Given the description of an element on the screen output the (x, y) to click on. 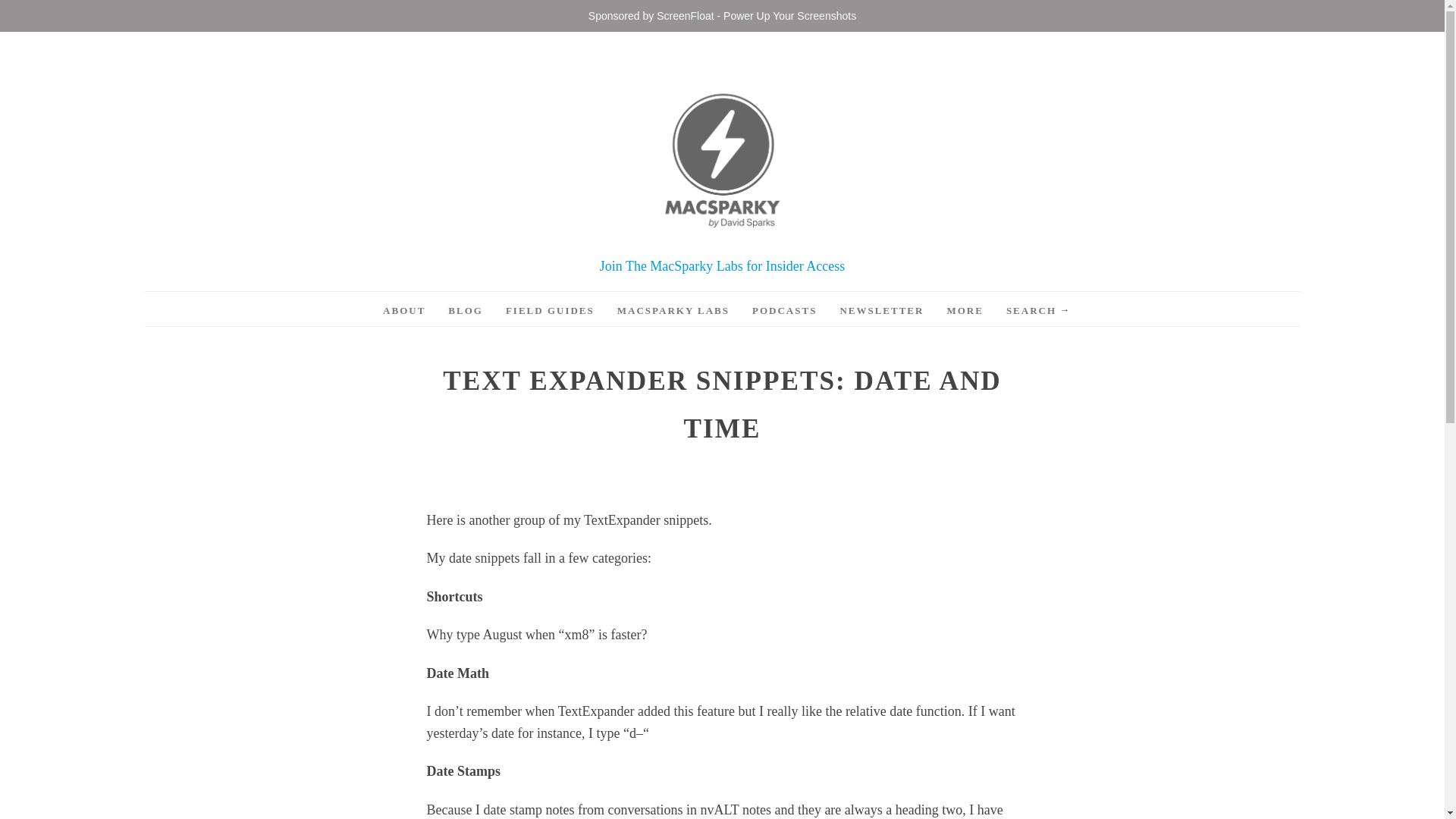
BLOG (465, 310)
FIELD GUIDES (549, 310)
NEWSLETTER (881, 310)
MACSPARKY LABS (673, 310)
Join The MacSparky Labs for Insider Access (722, 265)
ScreenFloat - Power Up Your Screenshots (756, 15)
ABOUT (403, 310)
Enter keyword (1033, 310)
PODCASTS (784, 310)
MORE (964, 310)
